Given the description of an element on the screen output the (x, y) to click on. 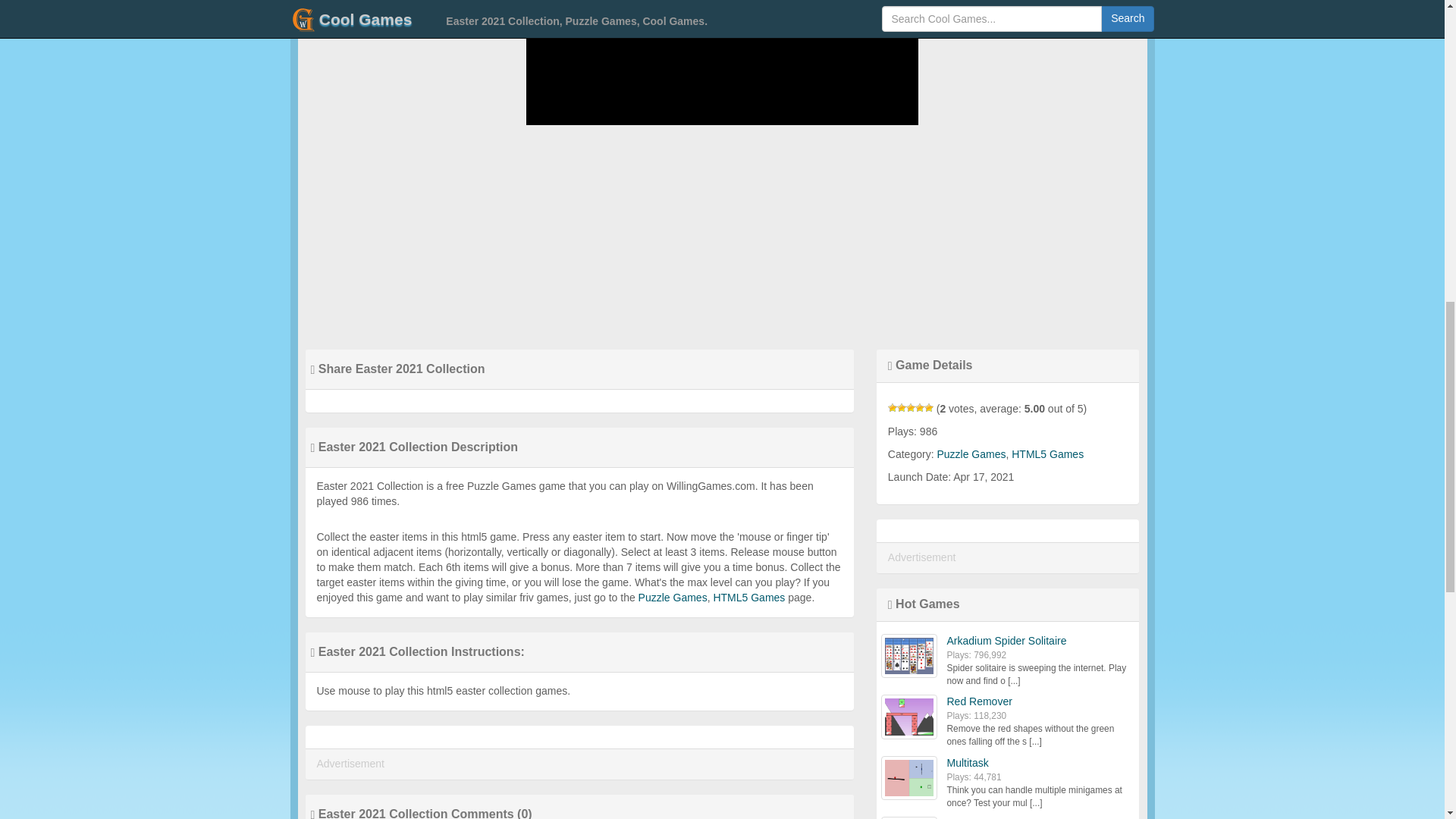
HTML5 Games (1047, 453)
Arkadium Spider Solitaire (1005, 640)
3 Stars (910, 407)
Red Remover (978, 701)
1 Star (892, 407)
4 Stars (919, 407)
Madalin Stunt Cars 2 (995, 818)
Puzzle Games (971, 453)
Multitask (967, 762)
2 Stars (900, 407)
